Given the description of an element on the screen output the (x, y) to click on. 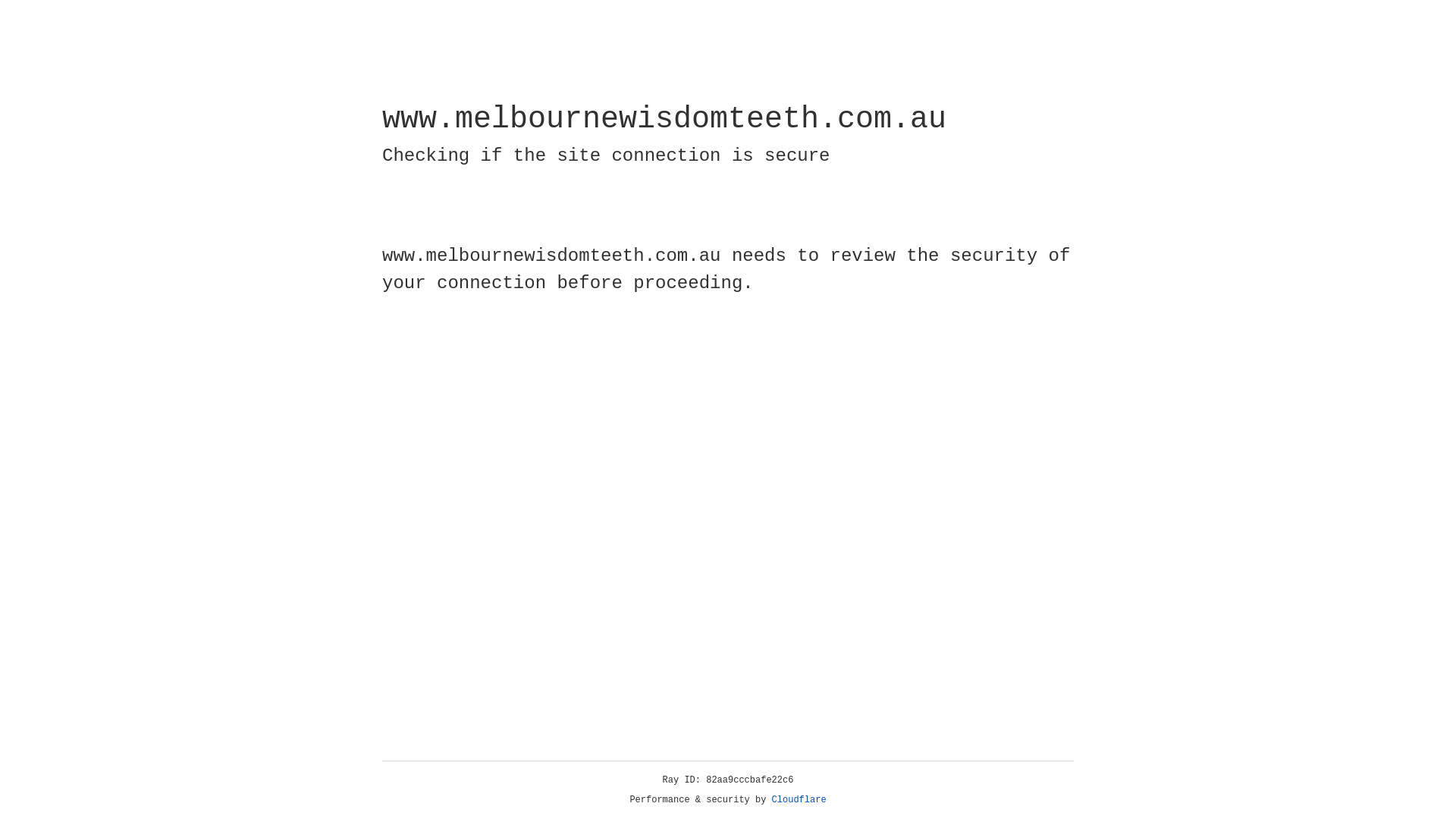
Cloudflare Element type: text (798, 799)
